Given the description of an element on the screen output the (x, y) to click on. 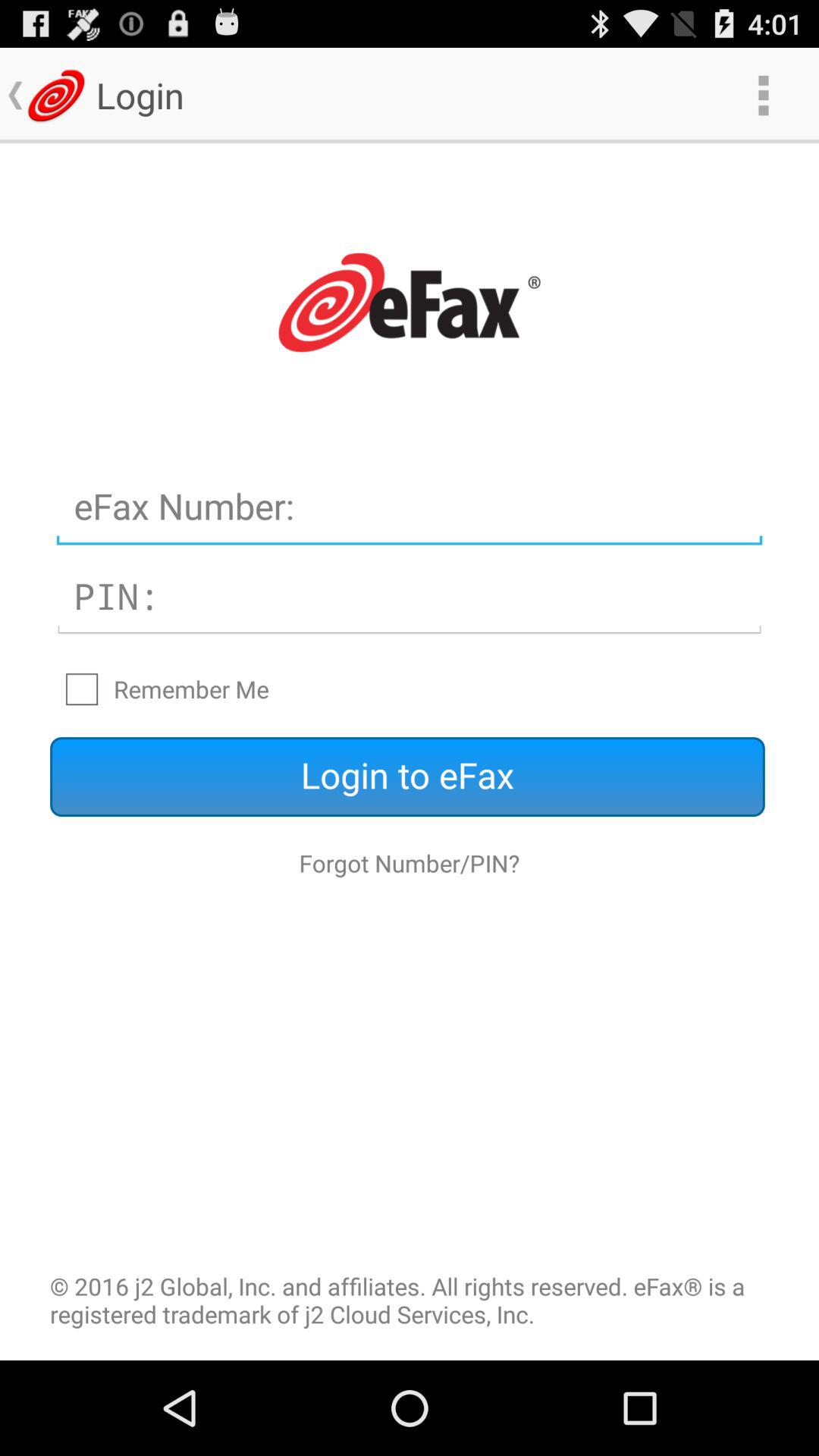
swipe until the forgot number/pin? icon (409, 862)
